Given the description of an element on the screen output the (x, y) to click on. 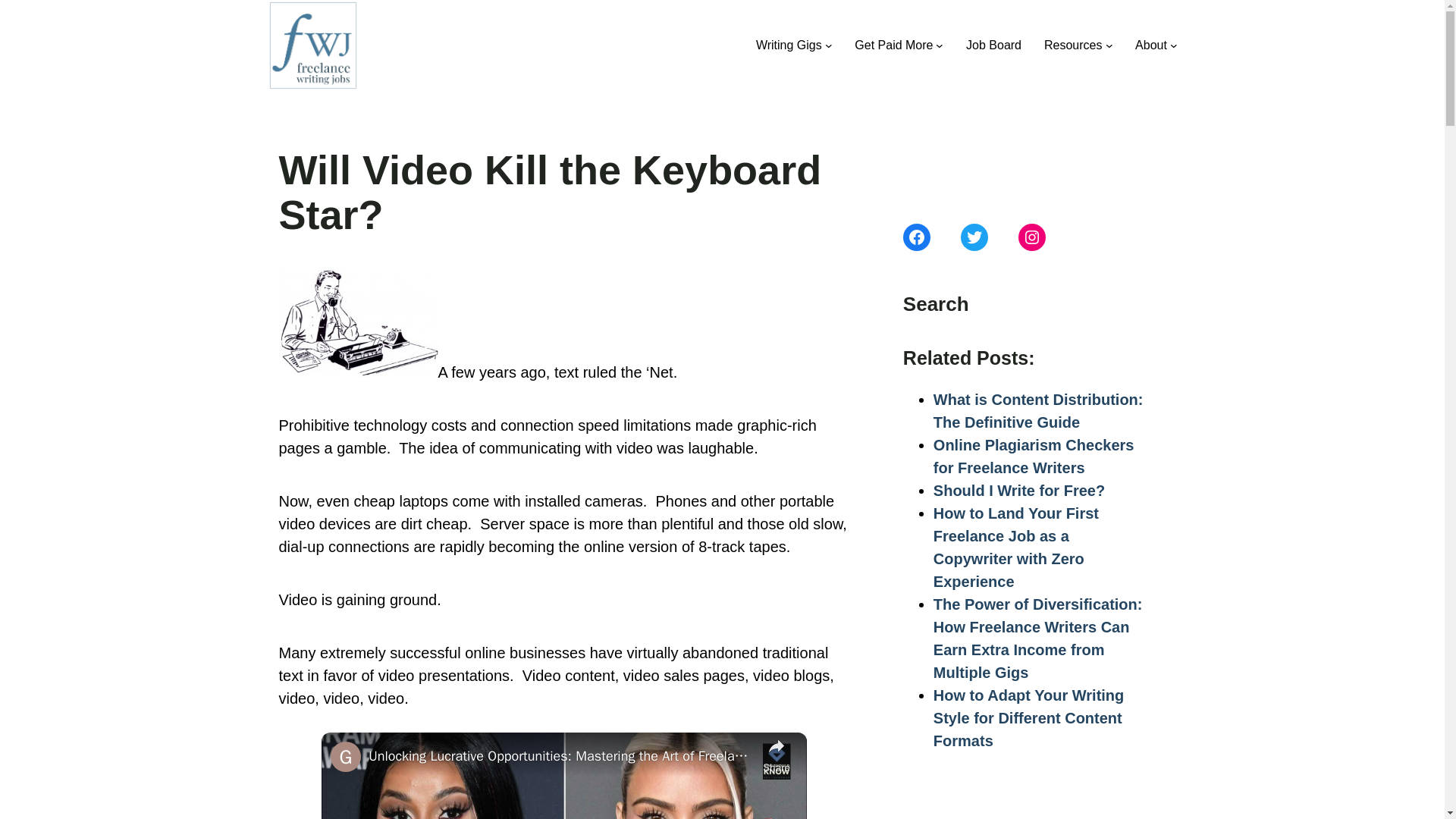
Should I Write for Free? (1019, 490)
Writing Gigs (788, 45)
carson-brackney (358, 322)
Online Plagiarism Checkers for Freelance Writers (1033, 455)
Job Board (994, 45)
Get Paid More (893, 45)
About (1151, 45)
What is Content Distribution: The Definitive Guide (1037, 410)
Resources (1072, 45)
Share (776, 753)
share (776, 753)
